Given the description of an element on the screen output the (x, y) to click on. 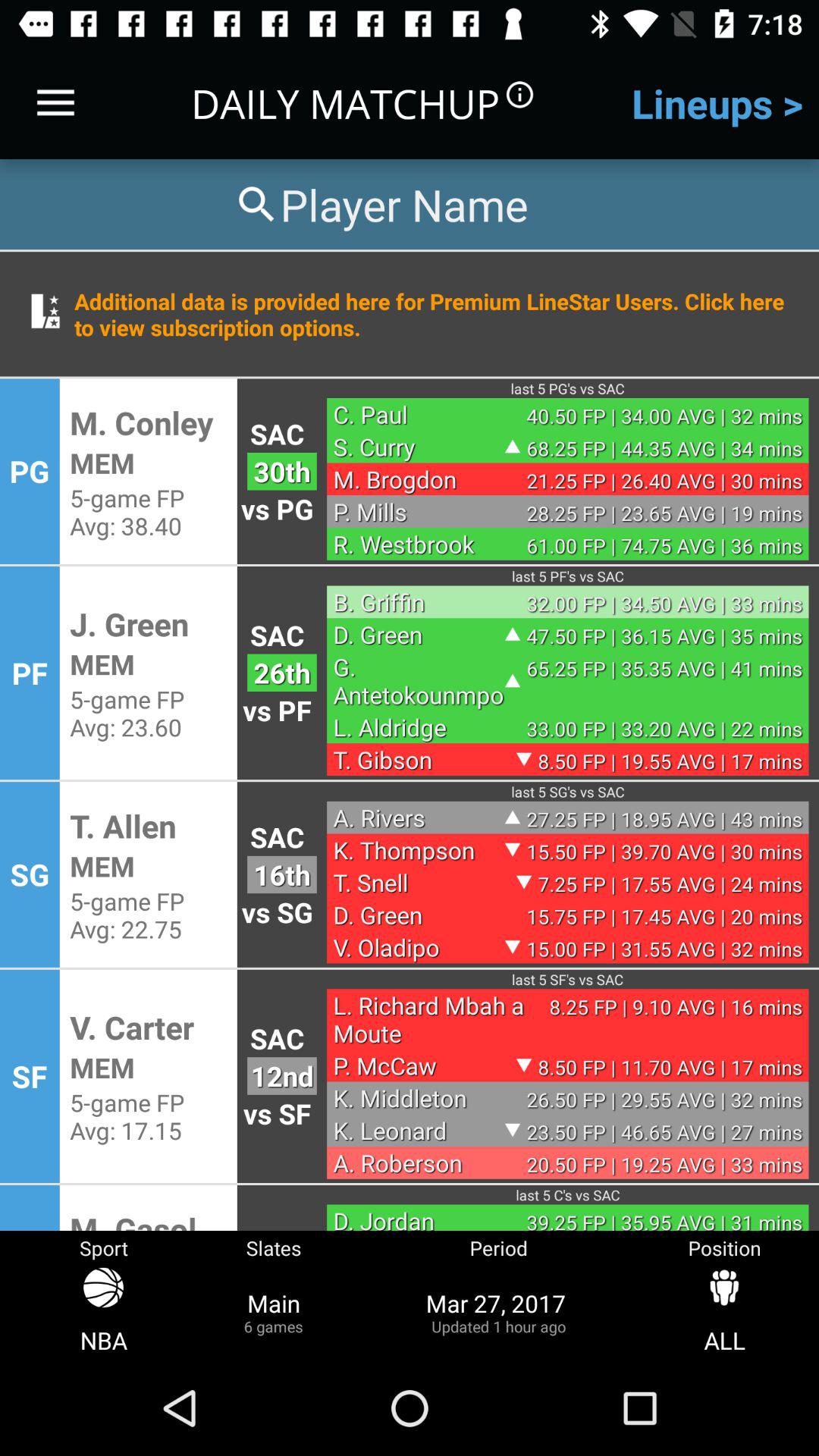
jump until 26th icon (281, 672)
